Given the description of an element on the screen output the (x, y) to click on. 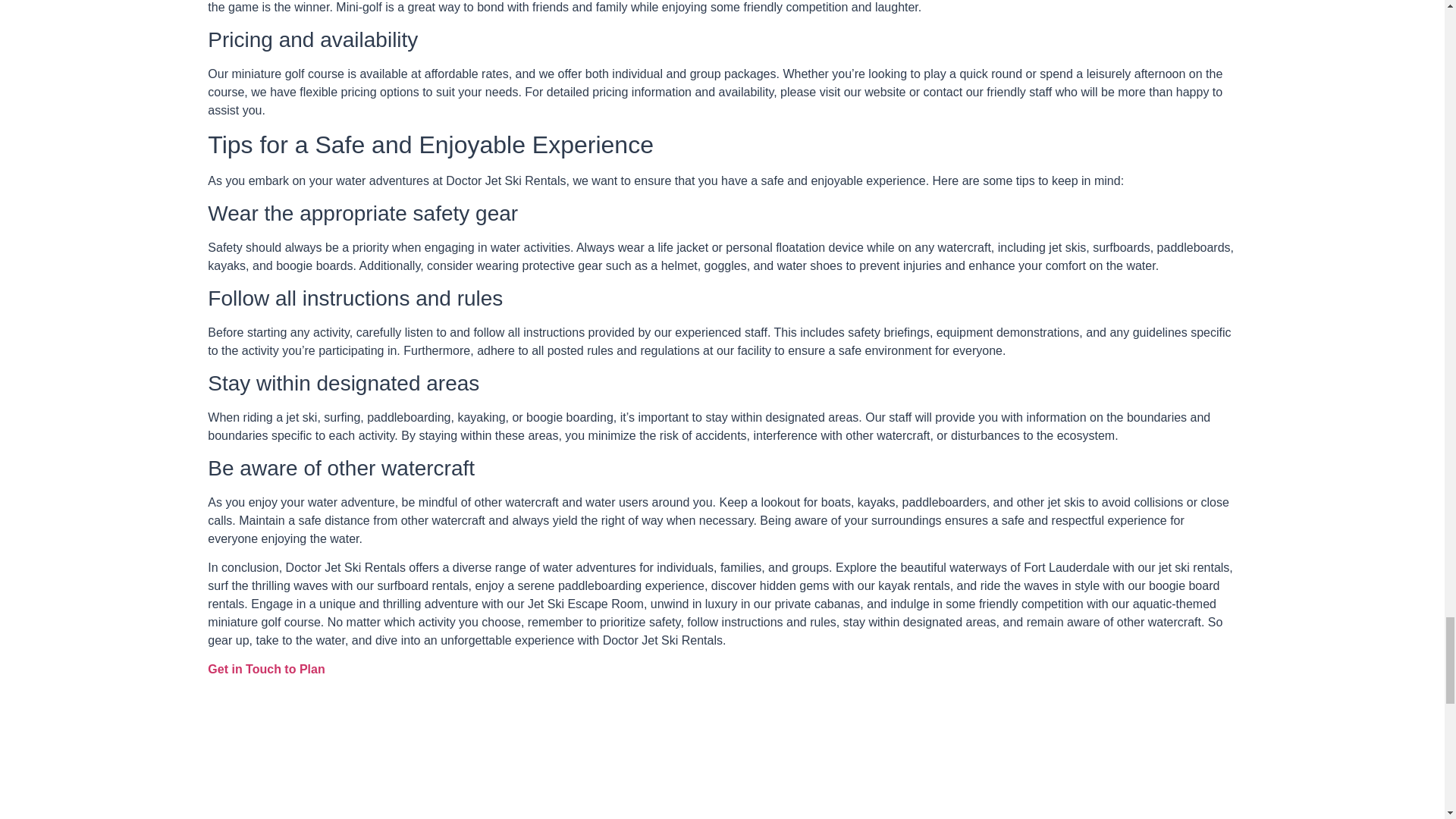
Learn more about the Get in Touch to Plan here. (266, 668)
Get in Touch to Plan (266, 668)
